Given the description of an element on the screen output the (x, y) to click on. 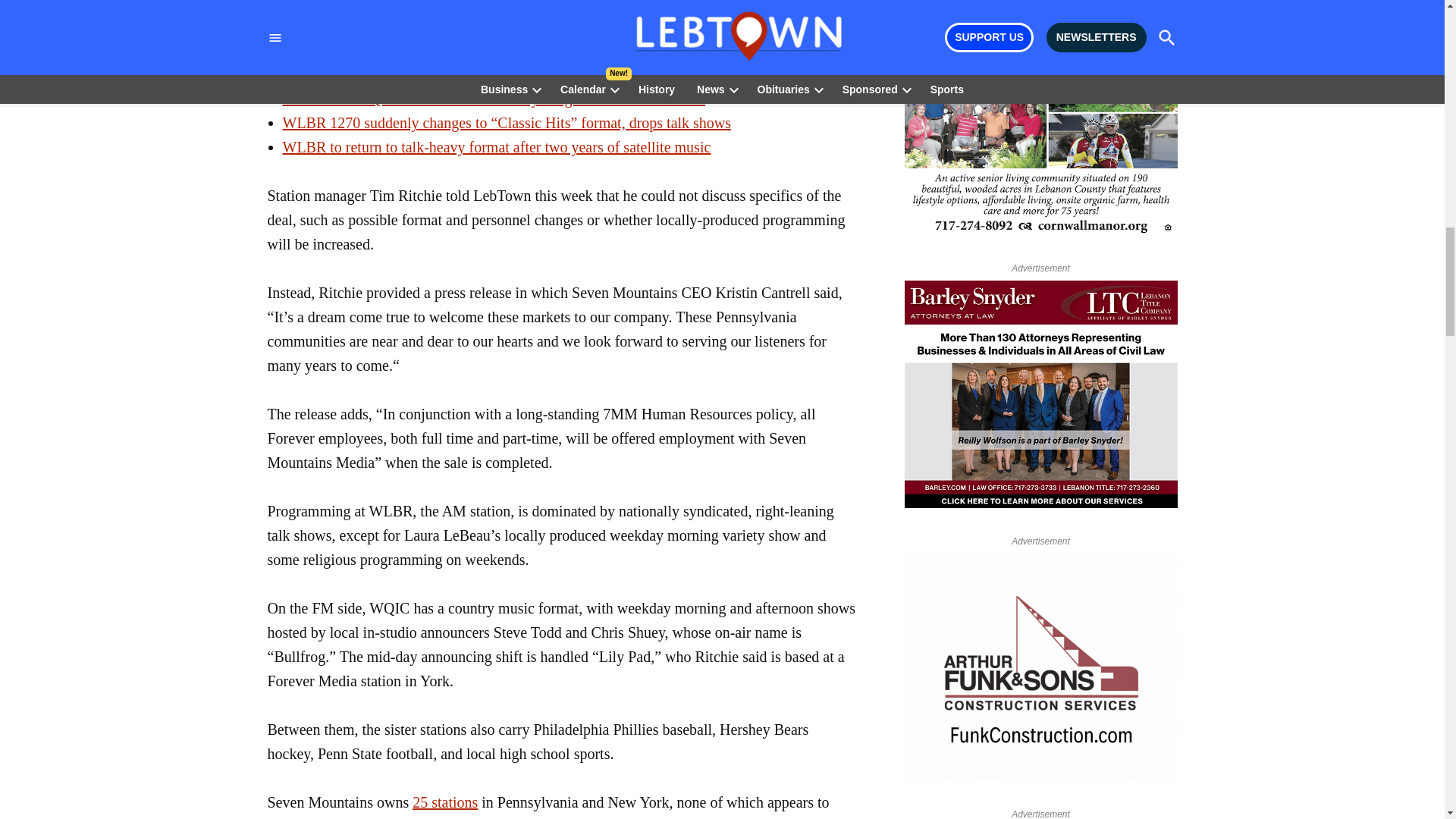
Discover Cornwall Manor (1040, 124)
Connect. Collaborate. Construct. (1040, 670)
